Given the description of an element on the screen output the (x, y) to click on. 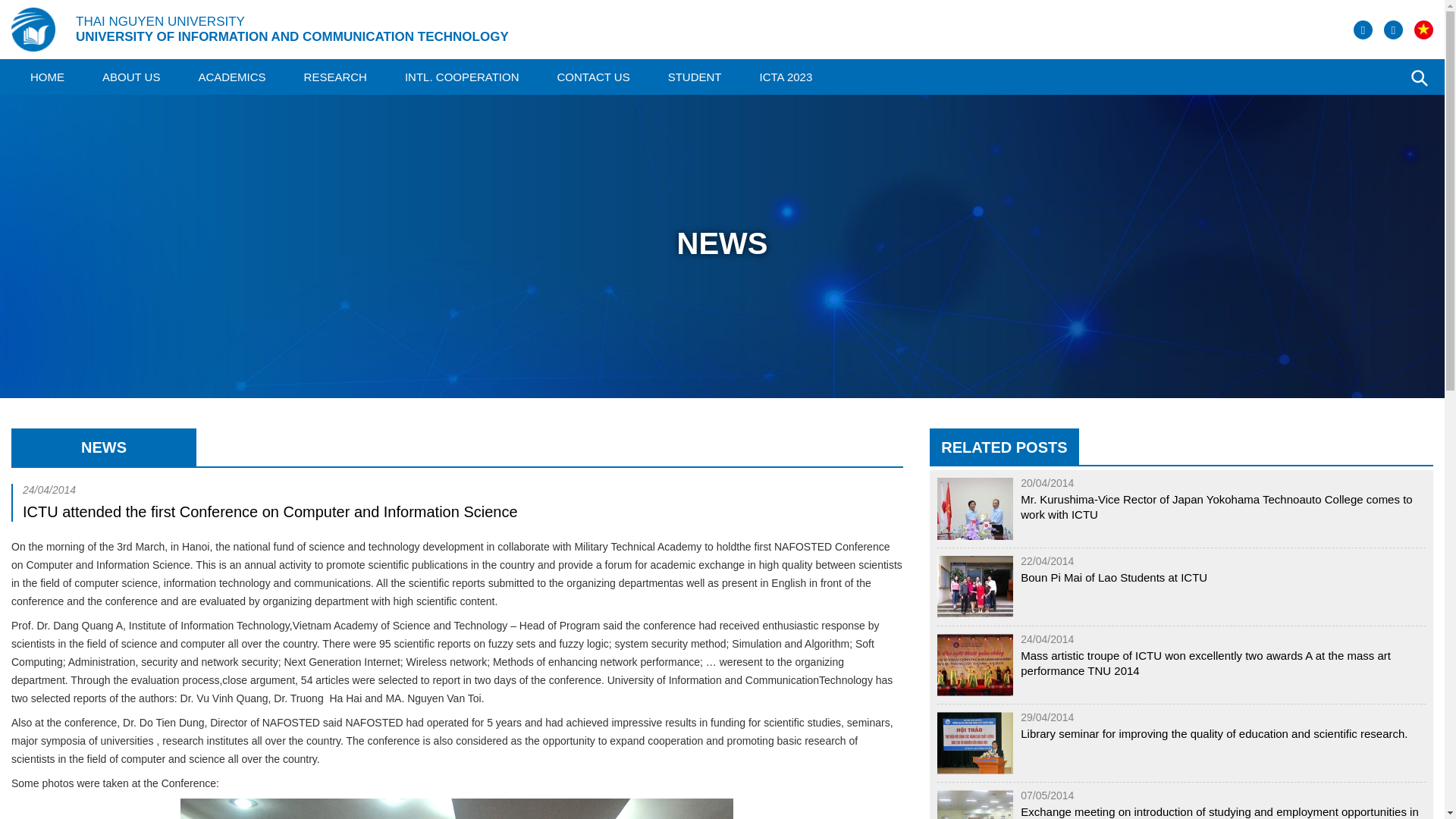
INTL. COOPERATION (461, 76)
RESEARCH (335, 76)
Boun Pi Mai of Lao Students at ICTU (1113, 577)
STUDENT (695, 76)
ACADEMICS (231, 76)
ABOUT US (130, 76)
HOME (46, 76)
ICTA 2023 (785, 76)
CONTACT US (593, 76)
